Given the description of an element on the screen output the (x, y) to click on. 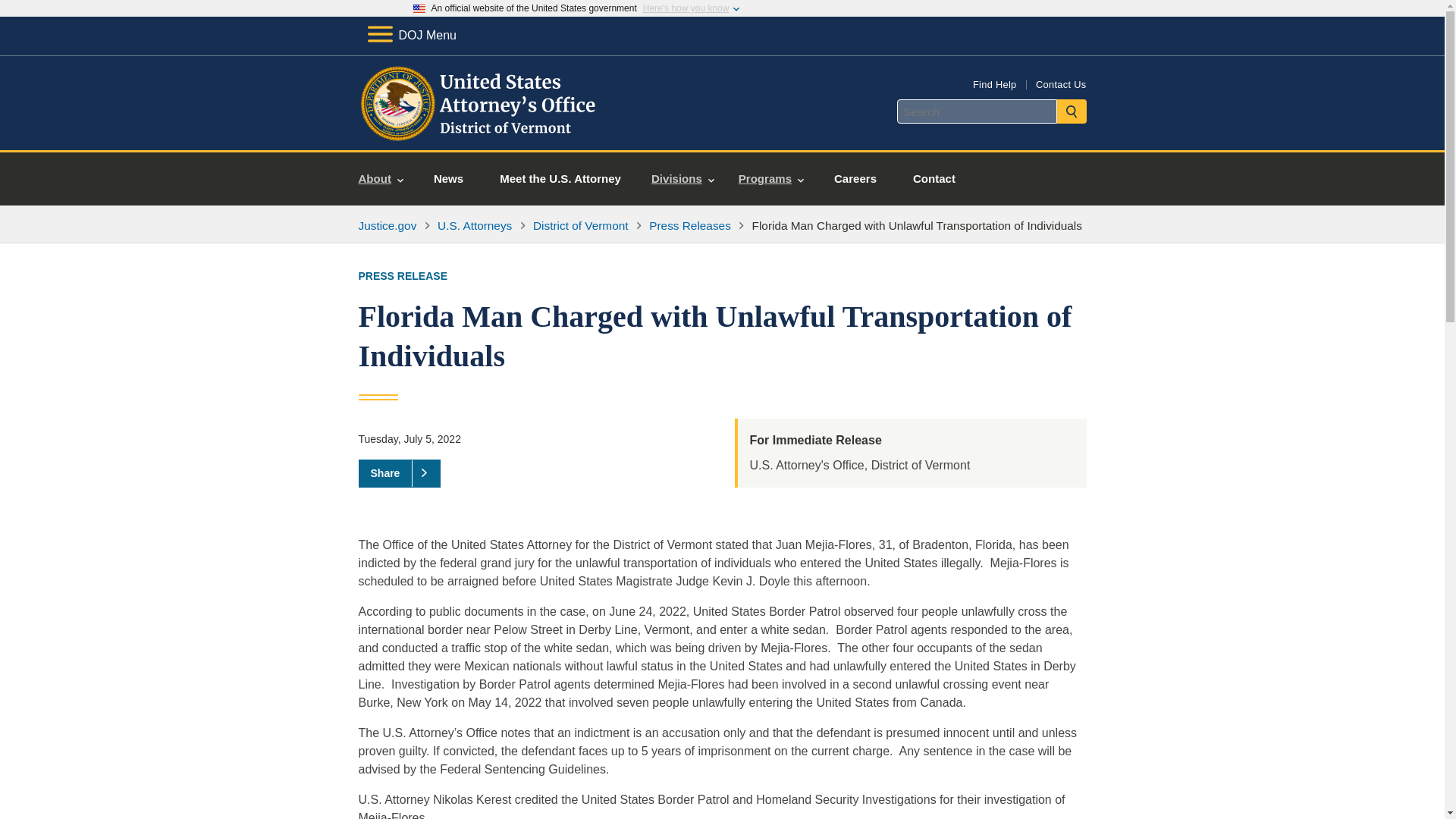
Contact Us (1060, 84)
News (447, 179)
Contact (934, 179)
DOJ Menu (411, 35)
District of Vermont (579, 225)
Justice.gov (387, 225)
Home (480, 132)
Careers (855, 179)
Press Releases (689, 225)
U.S. Attorneys (475, 225)
Meet the U.S. Attorney (560, 179)
About (380, 179)
Programs (770, 179)
Find Help (994, 84)
Share (398, 472)
